Given the description of an element on the screen output the (x, y) to click on. 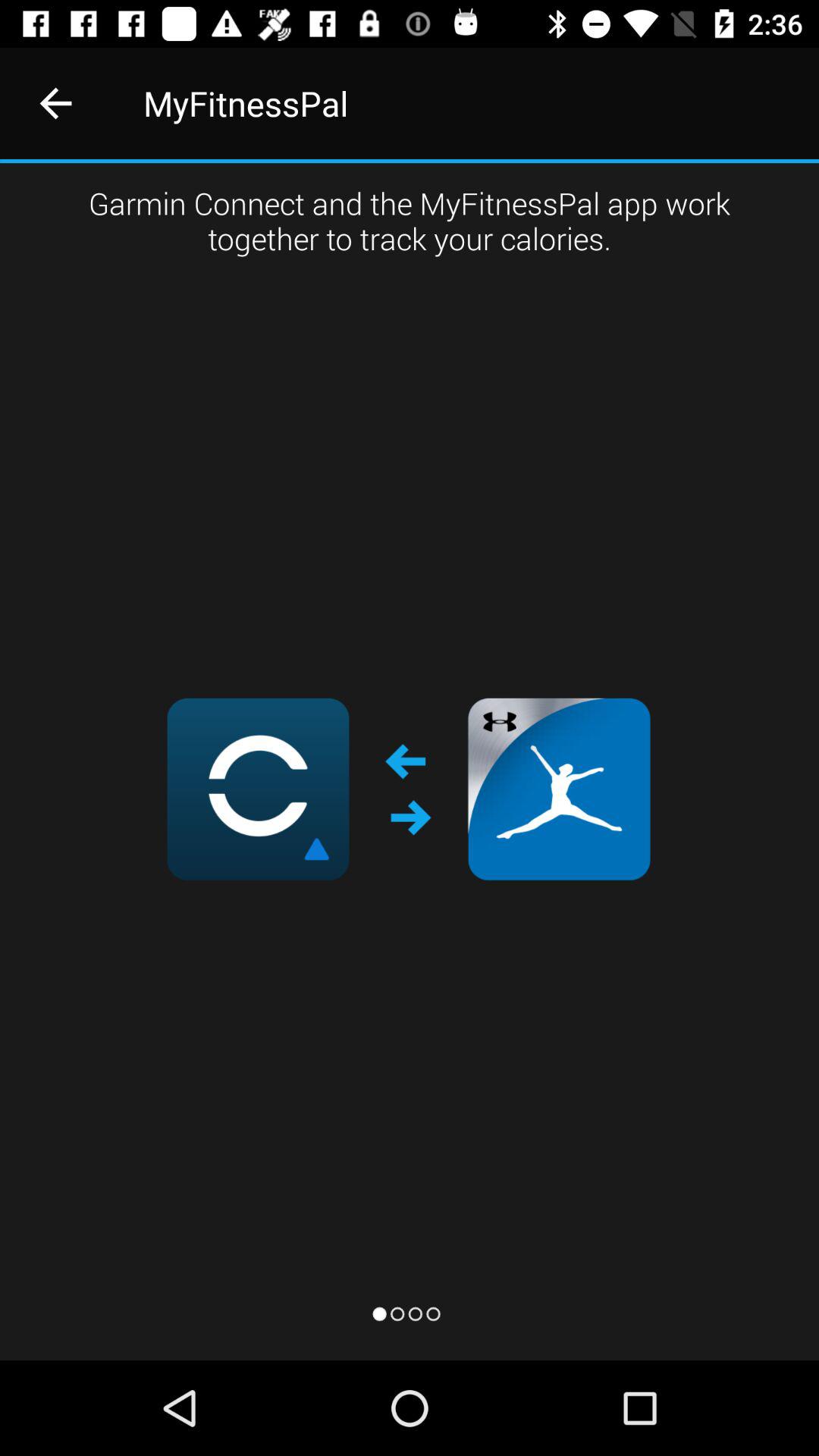
turn off icon next to myfitnesspal (55, 103)
